Given the description of an element on the screen output the (x, y) to click on. 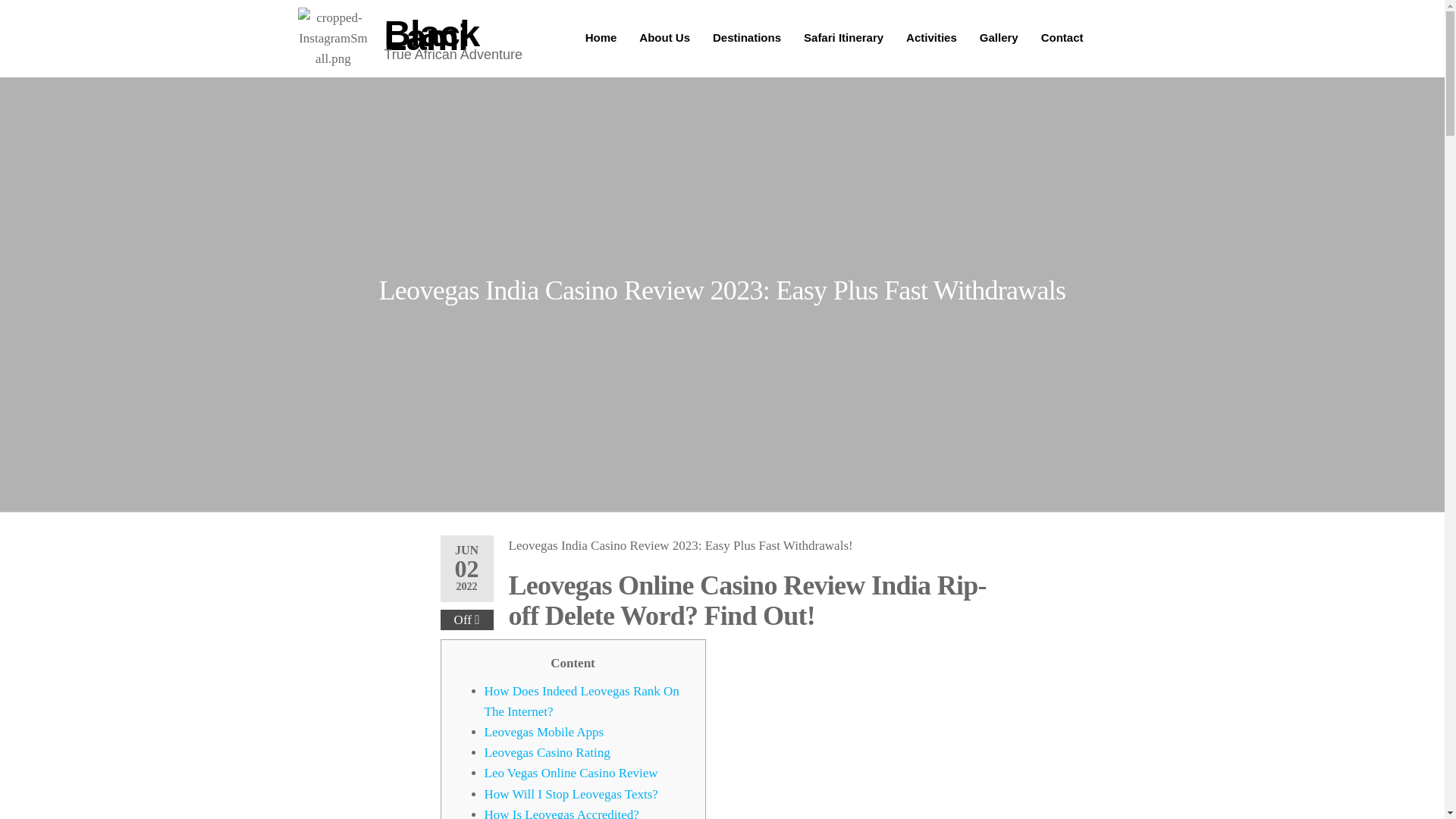
About Us (664, 37)
Leovegas Casino Rating (546, 752)
How Is Leovegas Accredited? (561, 813)
cropped-InstagramSmall.png (332, 38)
How Will I Stop Leovegas Texts? (570, 794)
About Us (370, 63)
Activities (599, 63)
Safari Itinerary (523, 63)
Home (600, 37)
Activities (931, 37)
